Given the description of an element on the screen output the (x, y) to click on. 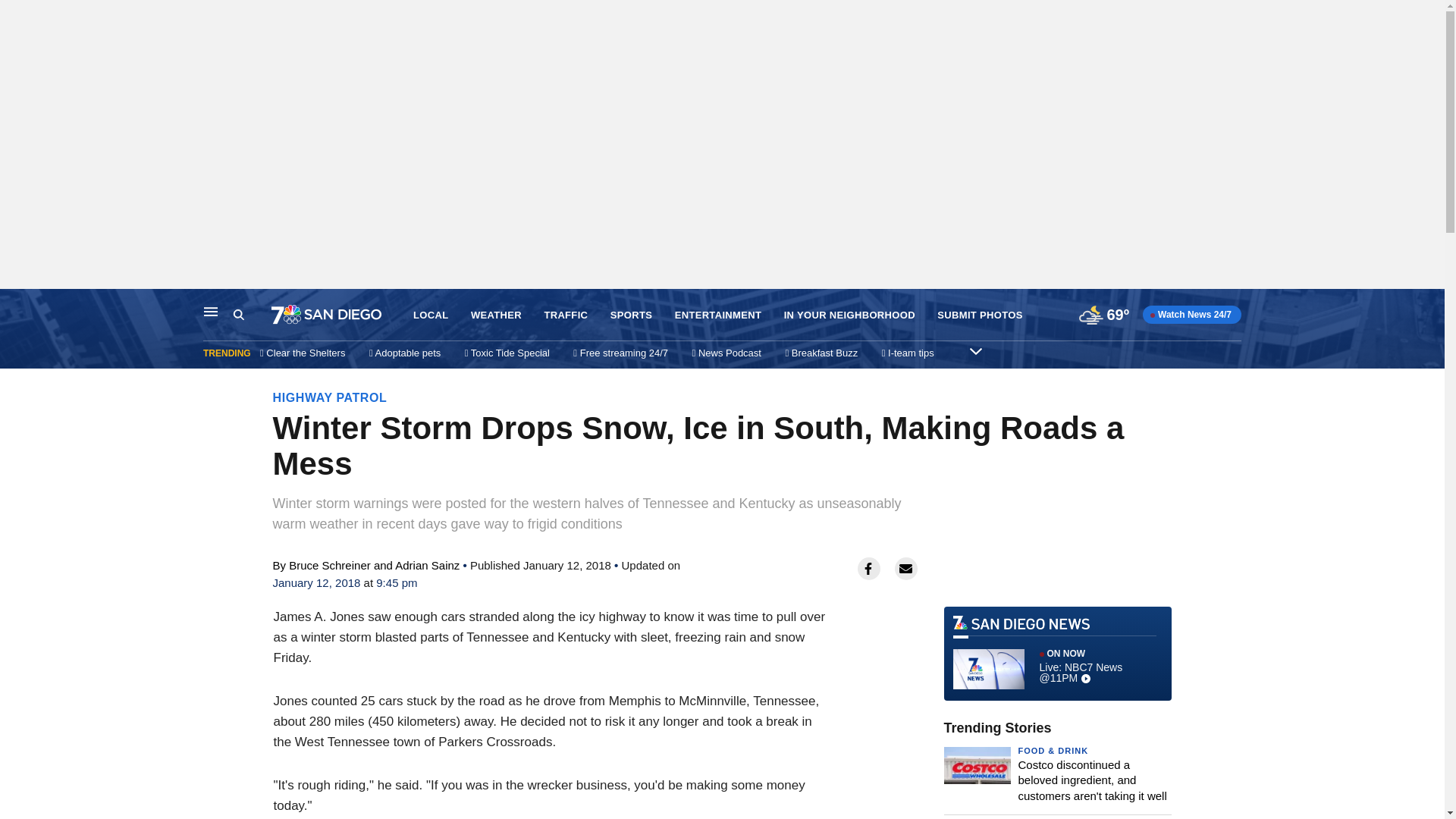
Expand (975, 350)
Search (252, 314)
Main Navigation (210, 311)
Skip to content (16, 304)
LOCAL (430, 315)
IN YOUR NEIGHBORHOOD (849, 315)
SPORTS (631, 315)
SUBMIT PHOTOS (979, 315)
WEATHER (495, 315)
